Given the description of an element on the screen output the (x, y) to click on. 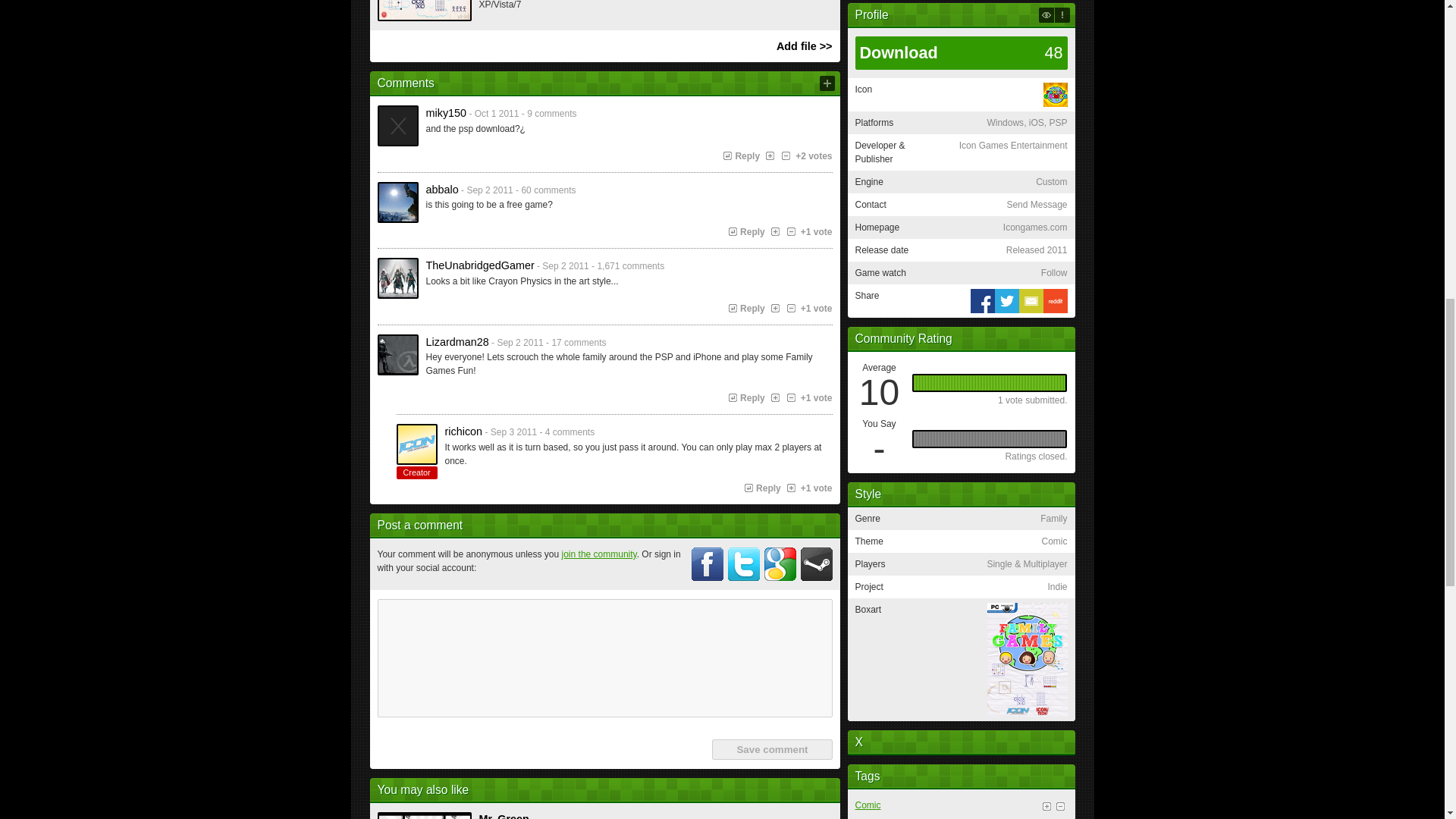
Save comment (771, 749)
